Given the description of an element on the screen output the (x, y) to click on. 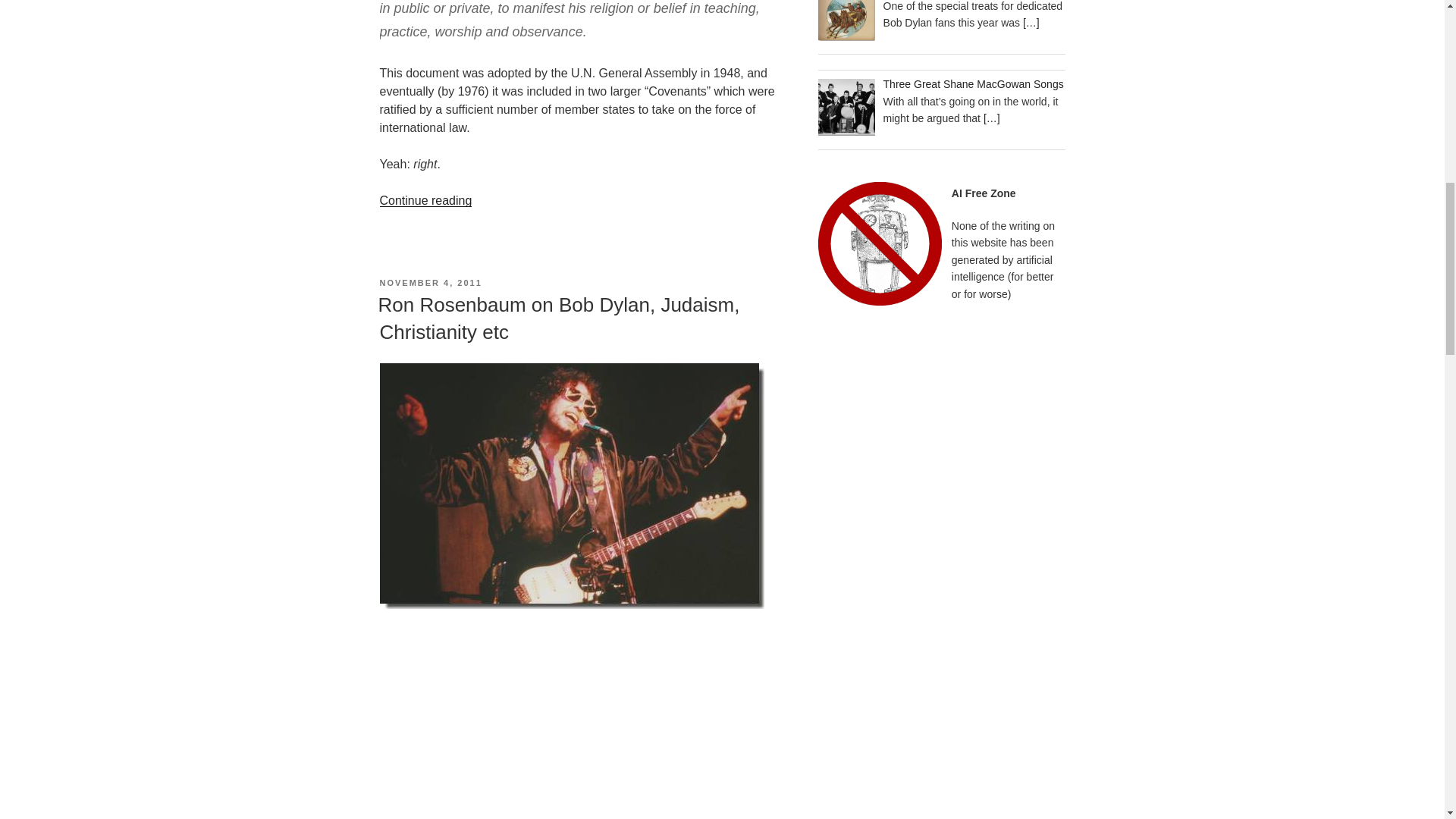
Ron Rosenbaum on Bob Dylan, Judaism, Christianity etc (558, 318)
Three Great Shane MacGowan Songs (973, 83)
NOVEMBER 4, 2011 (429, 282)
